Given the description of an element on the screen output the (x, y) to click on. 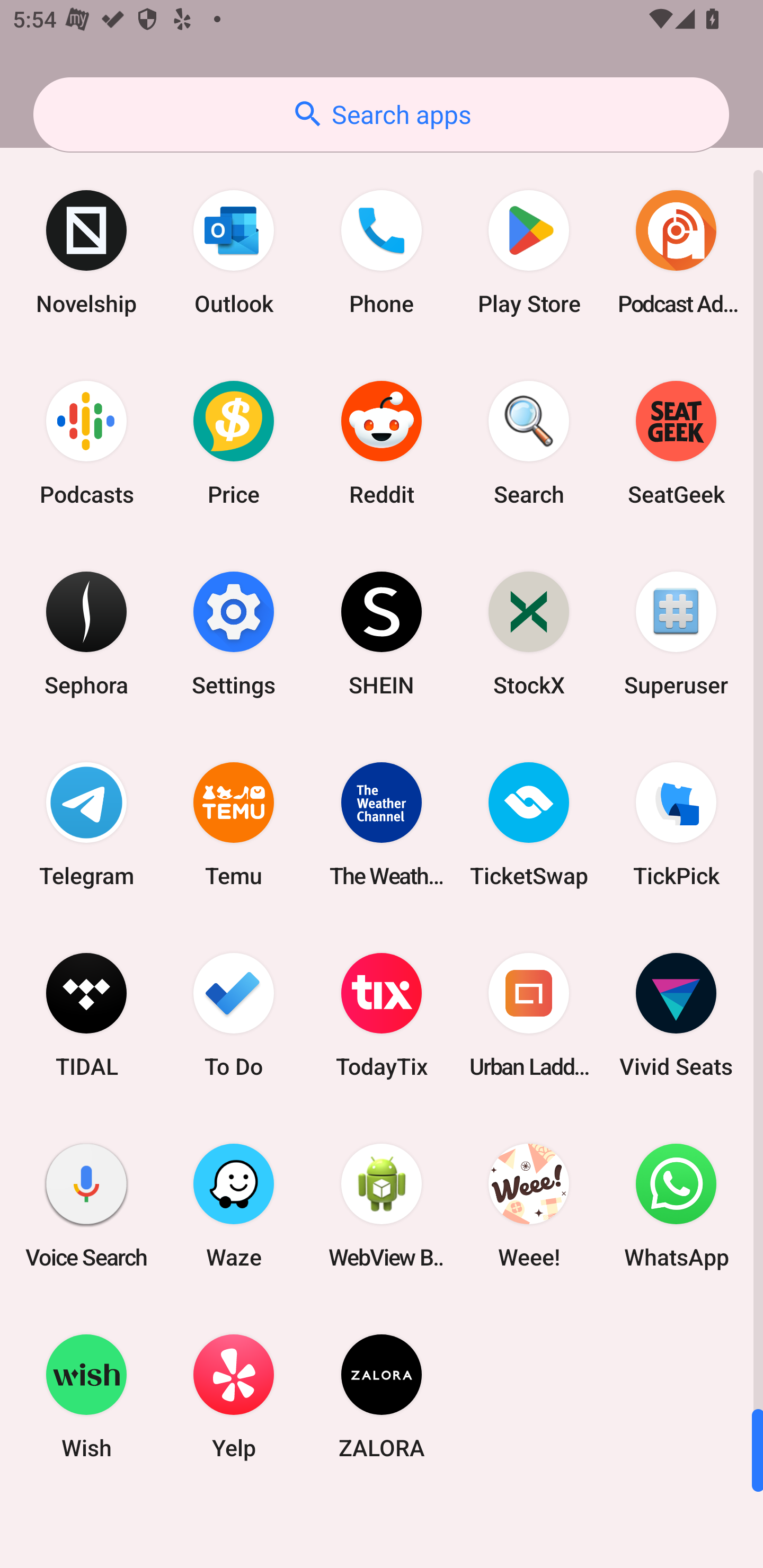
Yelp (233, 1396)
